Given the description of an element on the screen output the (x, y) to click on. 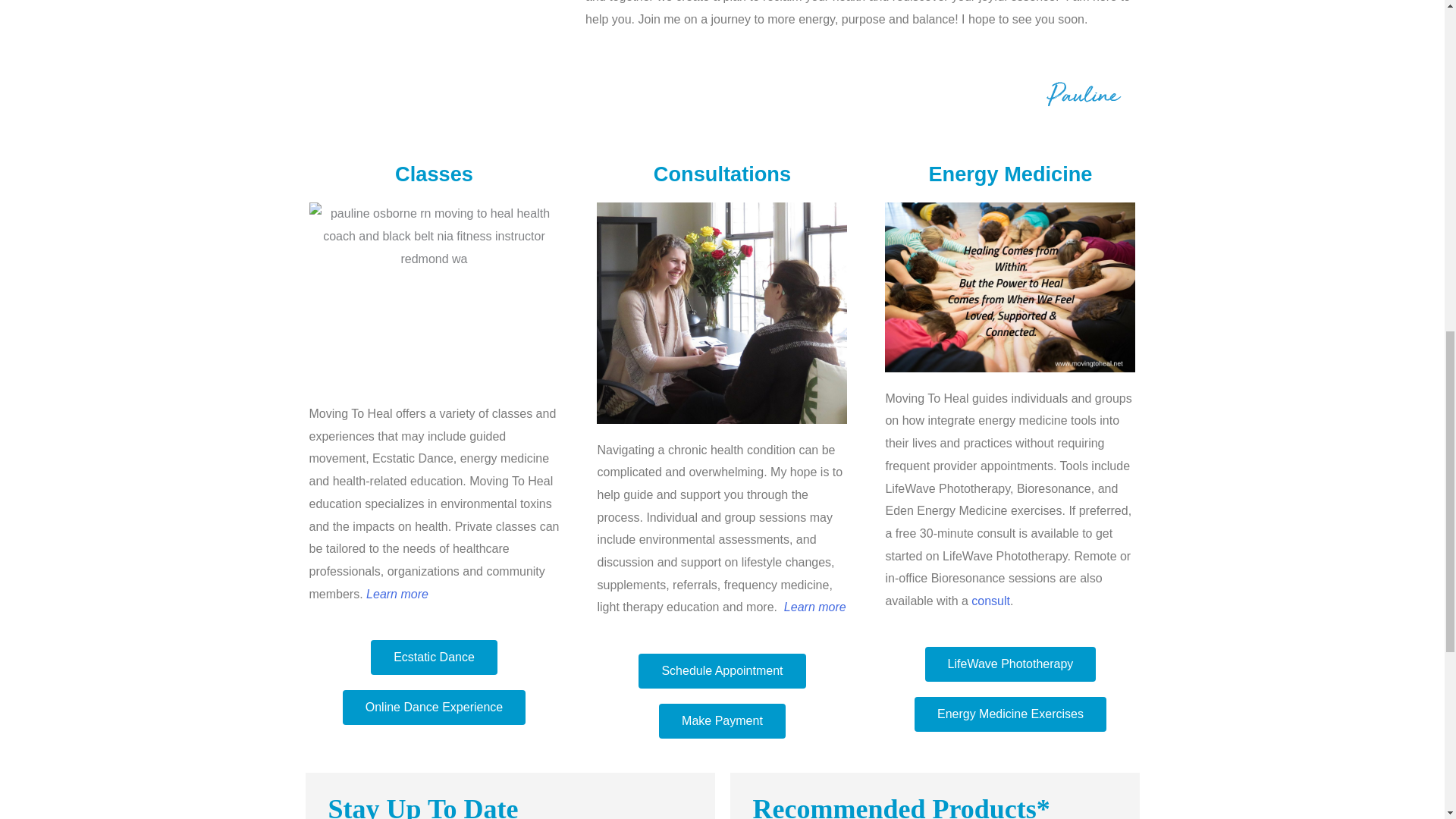
Learn more (814, 606)
consult (990, 600)
Make Payment (722, 720)
Online Dance Experience (433, 707)
LifeWave Phototherapy (1010, 664)
Learn more (397, 594)
Energy Medicine Exercises (1010, 714)
Schedule Appointment (722, 670)
Ecstatic Dance (434, 656)
